Given the description of an element on the screen output the (x, y) to click on. 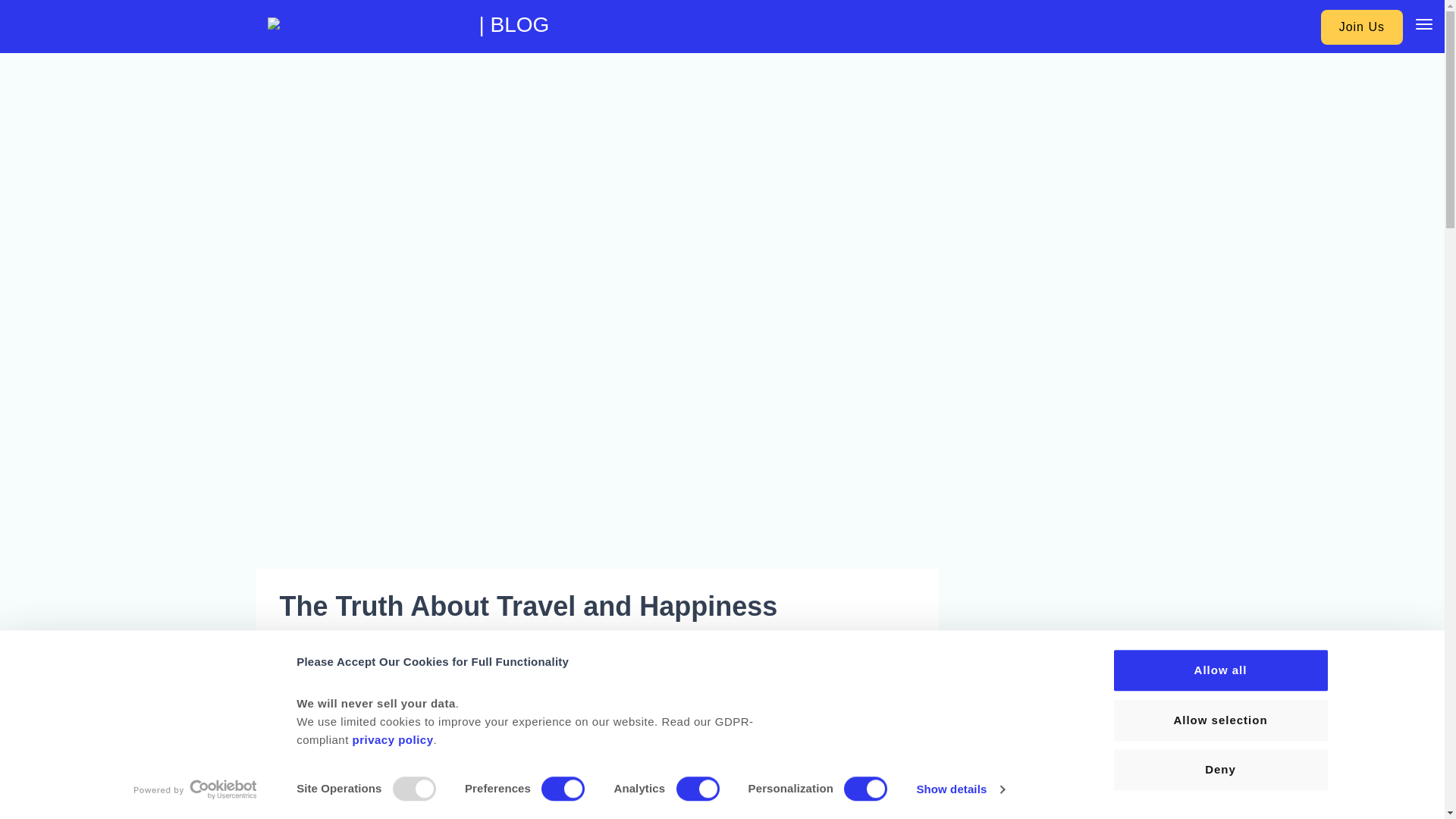
MovingWorlds Privacy Policy (392, 739)
privacy policy (392, 739)
Show details (959, 789)
